Given the description of an element on the screen output the (x, y) to click on. 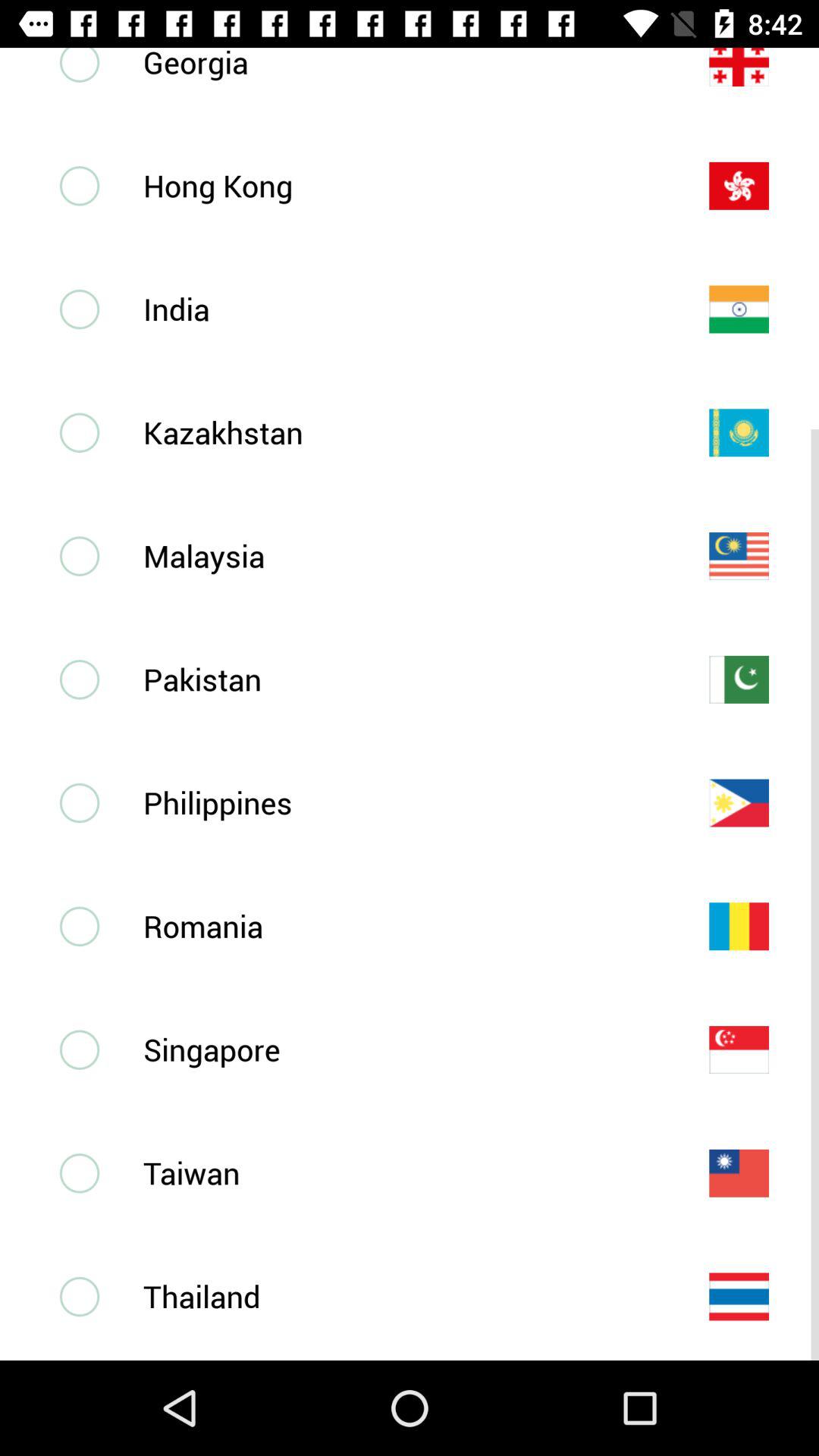
scroll until india (401, 308)
